Given the description of an element on the screen output the (x, y) to click on. 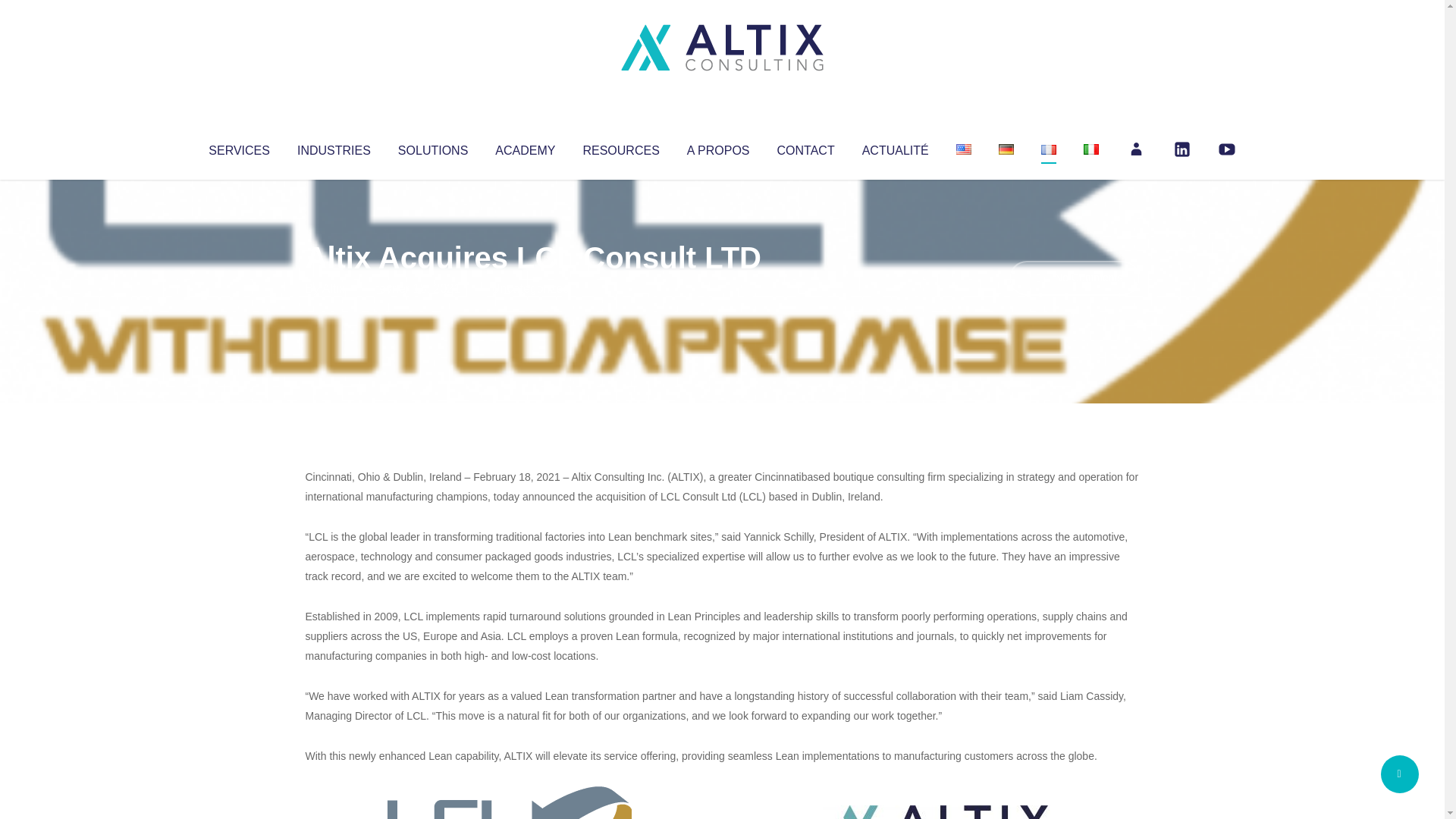
RESOURCES (620, 146)
Altix (333, 287)
Uncategorized (530, 287)
No Comments (1073, 278)
ACADEMY (524, 146)
Articles par Altix (333, 287)
SERVICES (238, 146)
A PROPOS (718, 146)
INDUSTRIES (334, 146)
SOLUTIONS (432, 146)
